Given the description of an element on the screen output the (x, y) to click on. 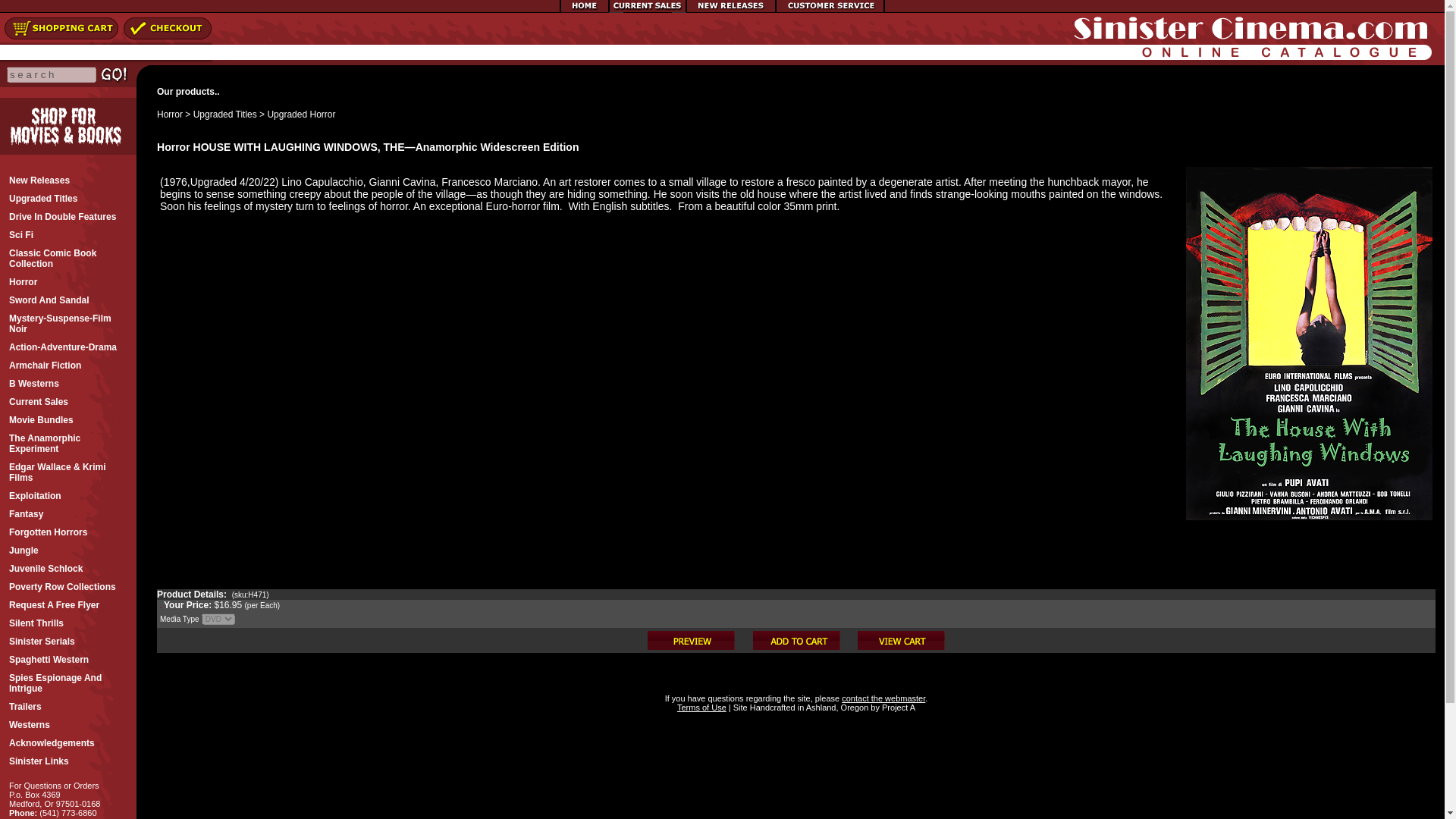
Customer Service (829, 9)
Request A Free Flyer (68, 605)
B Westerns (68, 383)
Home Page (584, 9)
Sci Fi (68, 235)
Juvenile Schlock (68, 568)
Acknowledgements (68, 742)
Horror (68, 281)
Classic Comic Book Collection (68, 258)
Current Sales (68, 402)
Current Sales (646, 9)
s e a r c h (51, 74)
Jungle (68, 550)
Trailers (68, 706)
Spies Espionage And Intrigue (68, 683)
